Given the description of an element on the screen output the (x, y) to click on. 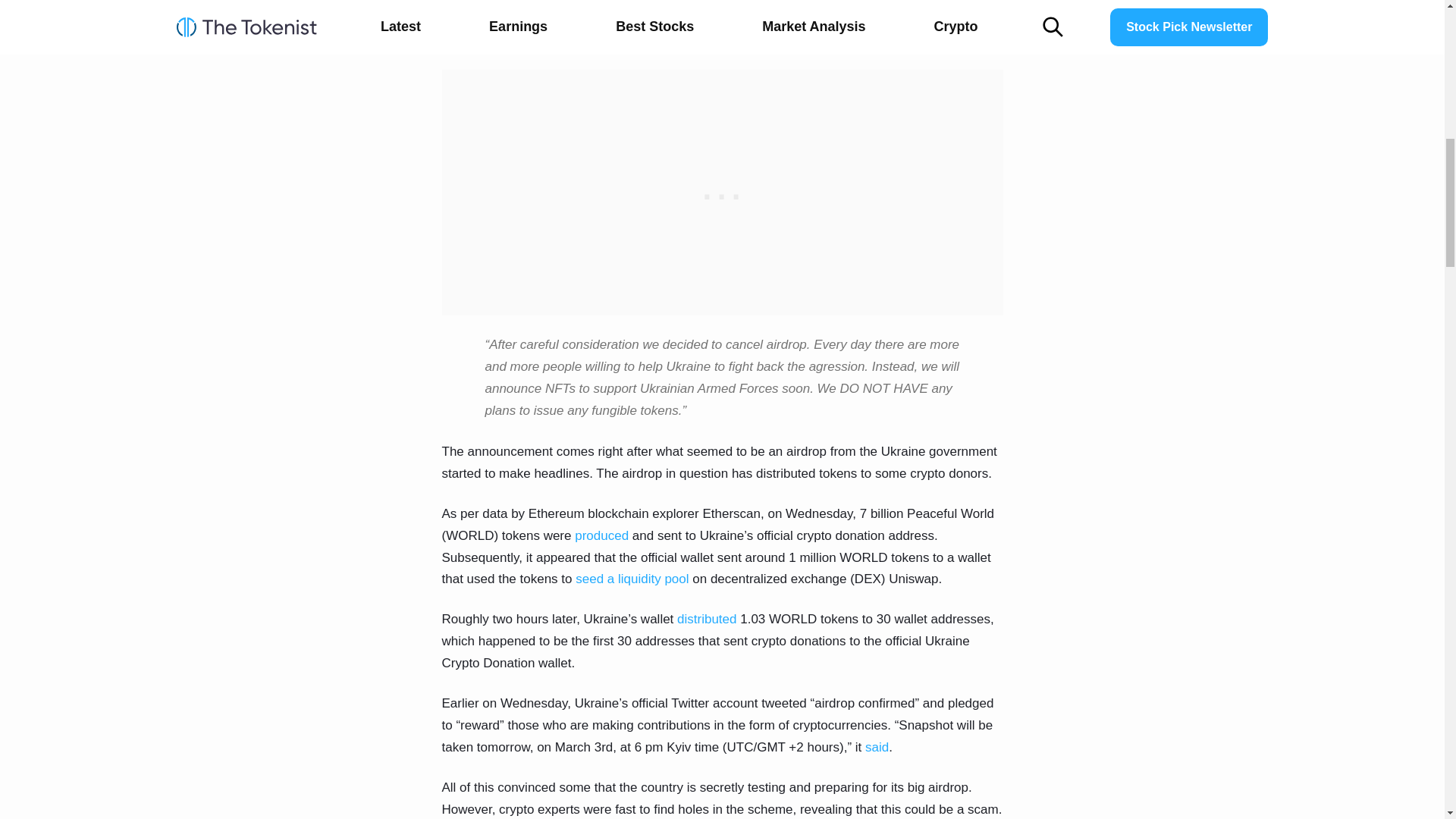
said (876, 747)
seed a liquidity pool (631, 578)
produced (601, 535)
distributed (706, 618)
